Given the description of an element on the screen output the (x, y) to click on. 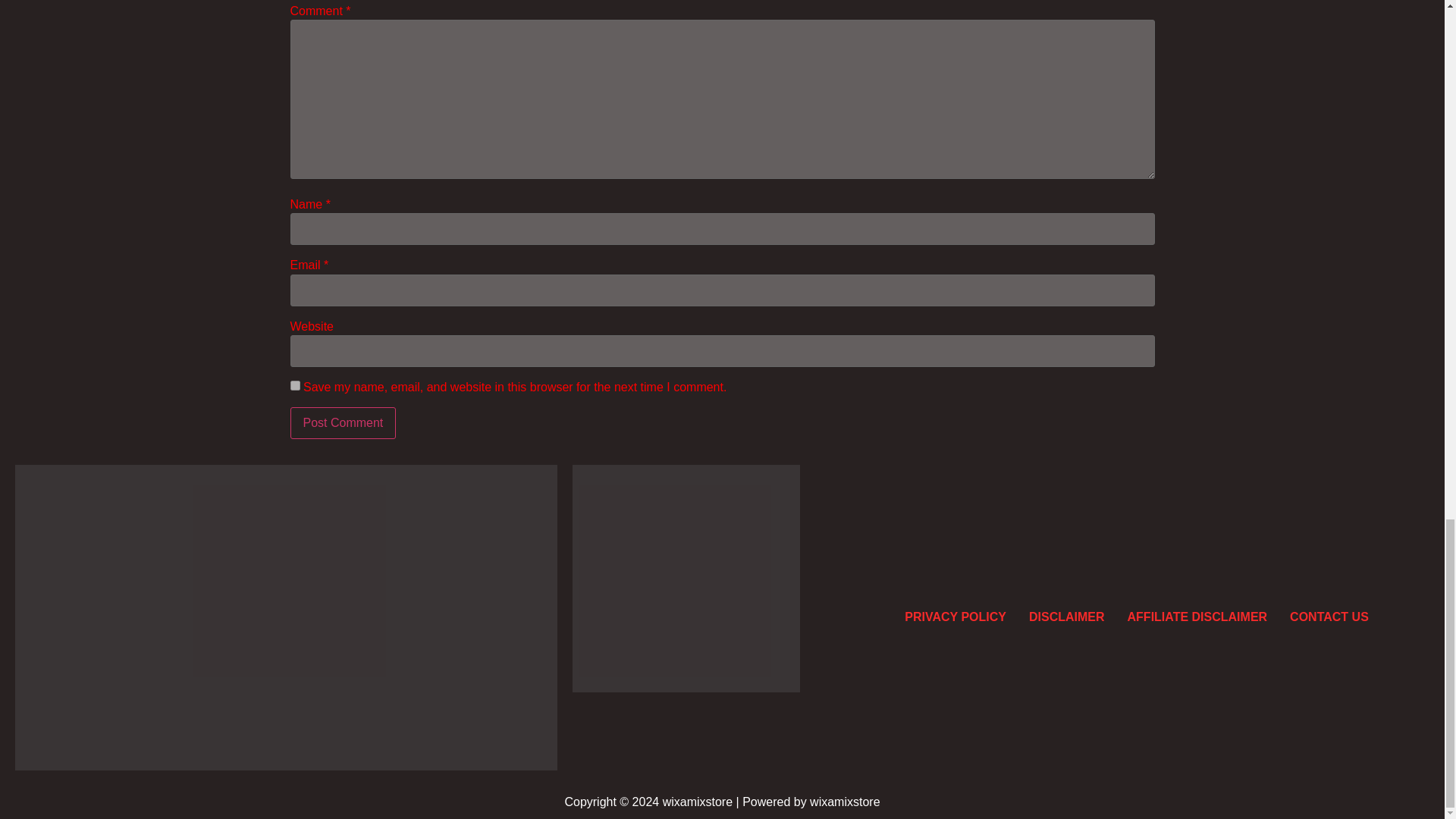
yes (294, 385)
AFFILIATE DISCLAIMER (1197, 616)
PRIVACY POLICY (955, 616)
Post Comment (342, 422)
CONTACT US (1329, 616)
Post Comment (342, 422)
DISCLAIMER (1066, 616)
